Given the description of an element on the screen output the (x, y) to click on. 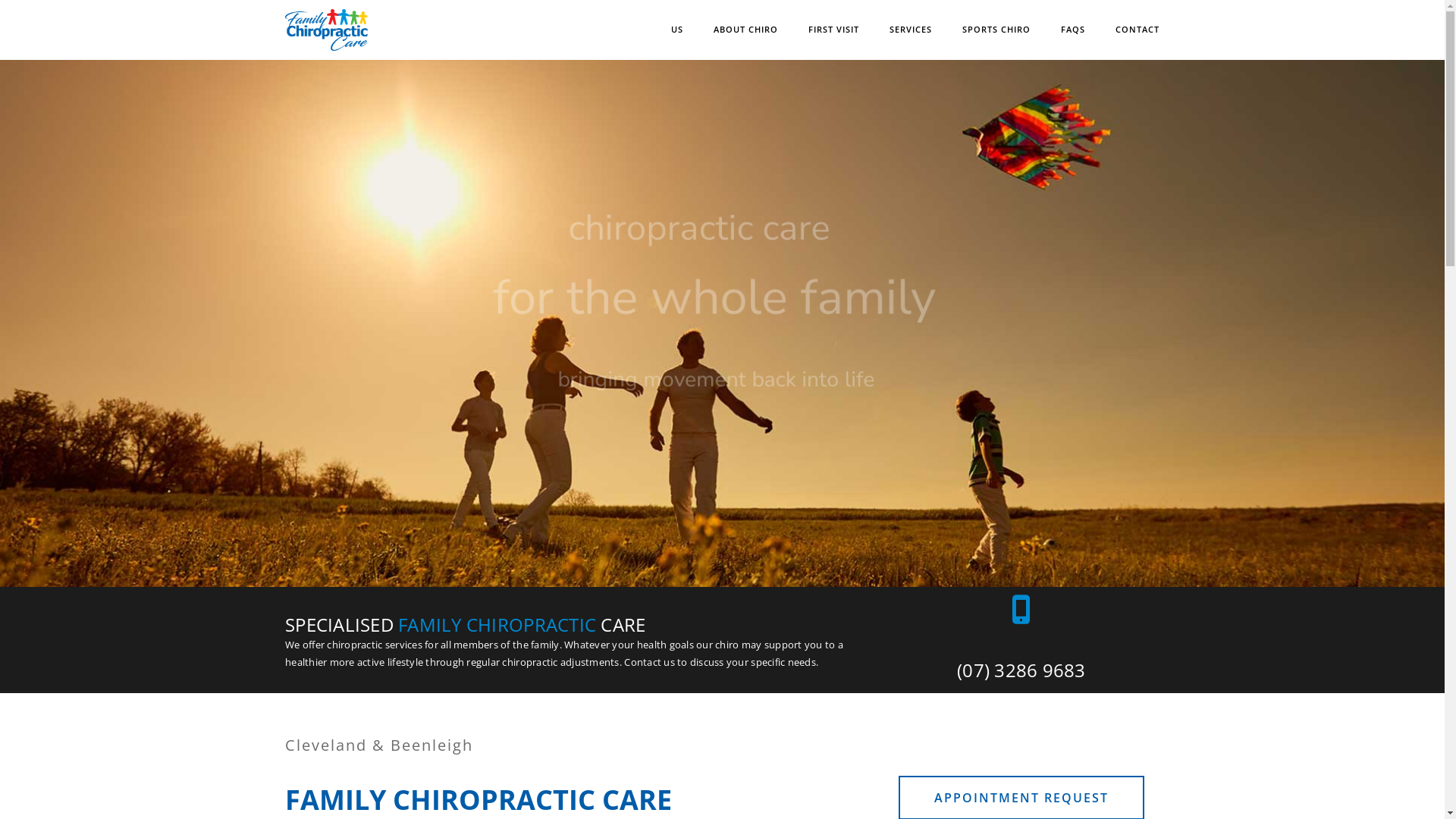
SPORTS CHIRO Element type: text (996, 29)
US Element type: text (677, 29)
ABOUT CHIRO Element type: text (745, 29)
FIRST VISIT Element type: text (833, 29)
FAQS Element type: text (1072, 29)
CONTACT Element type: text (1137, 29)
SERVICES Element type: text (910, 29)
